Given the description of an element on the screen output the (x, y) to click on. 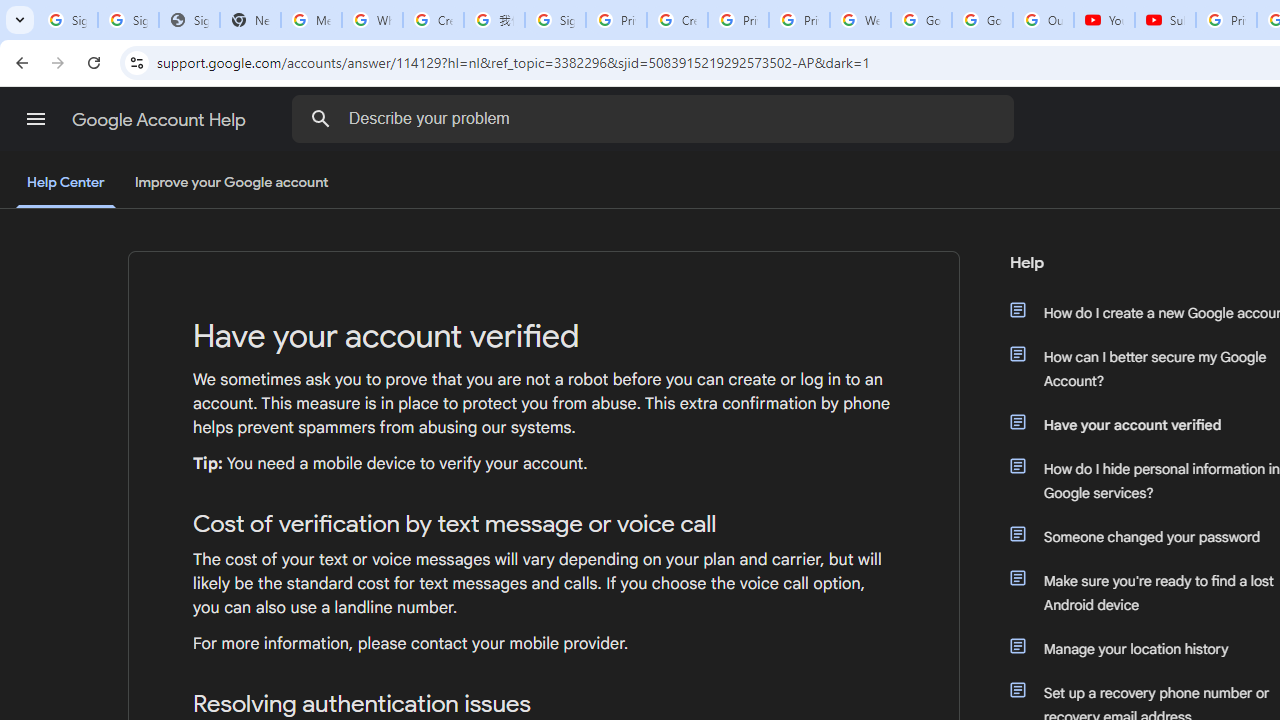
Who is my administrator? - Google Account Help (372, 20)
New Tab (250, 20)
Describe your problem (655, 118)
Improve your Google account (231, 183)
YouTube (1104, 20)
Sign In - USA TODAY (189, 20)
Subscriptions - YouTube (1165, 20)
Create your Google Account (433, 20)
